Given the description of an element on the screen output the (x, y) to click on. 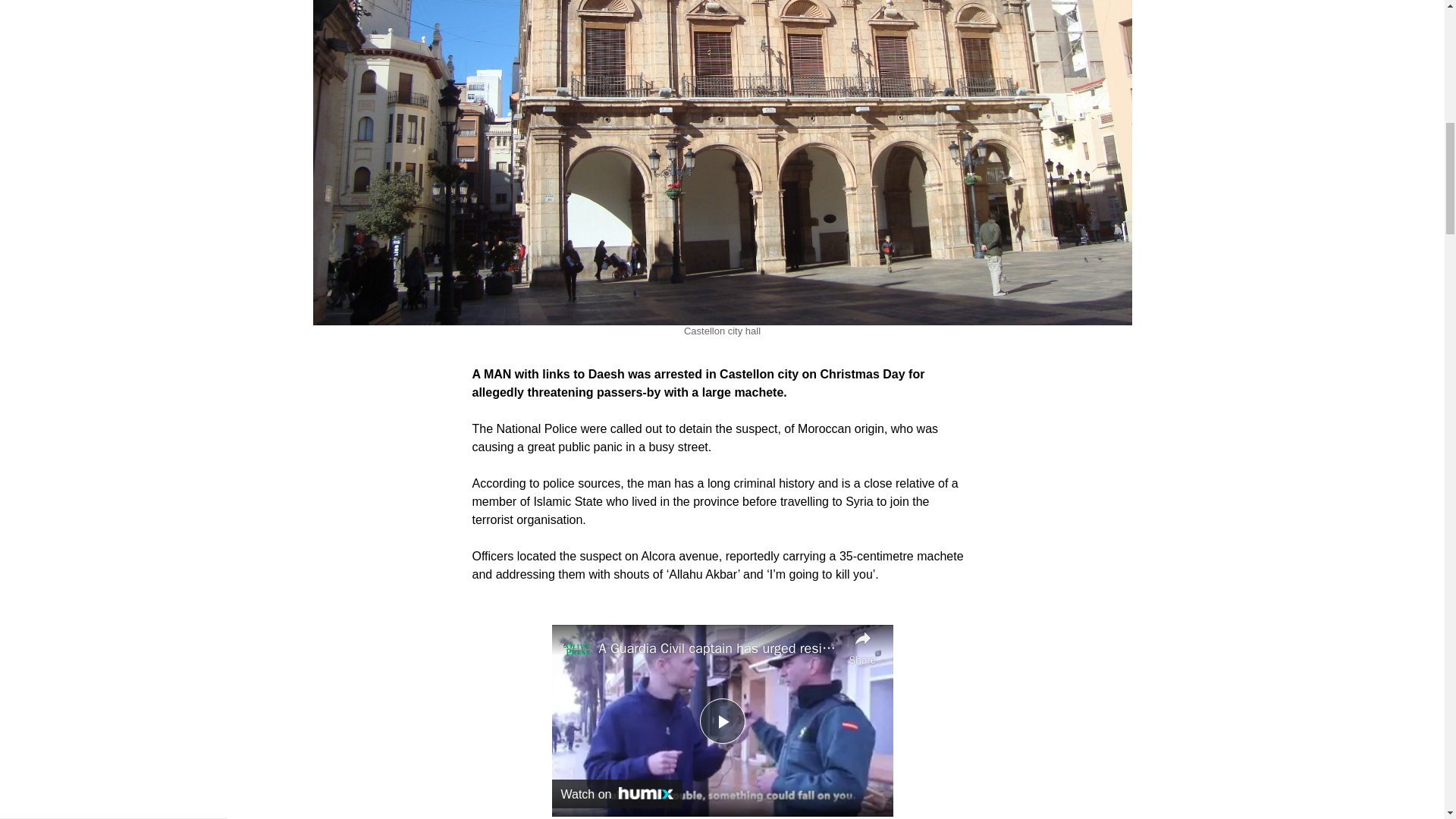
Play Video (721, 720)
